Given the description of an element on the screen output the (x, y) to click on. 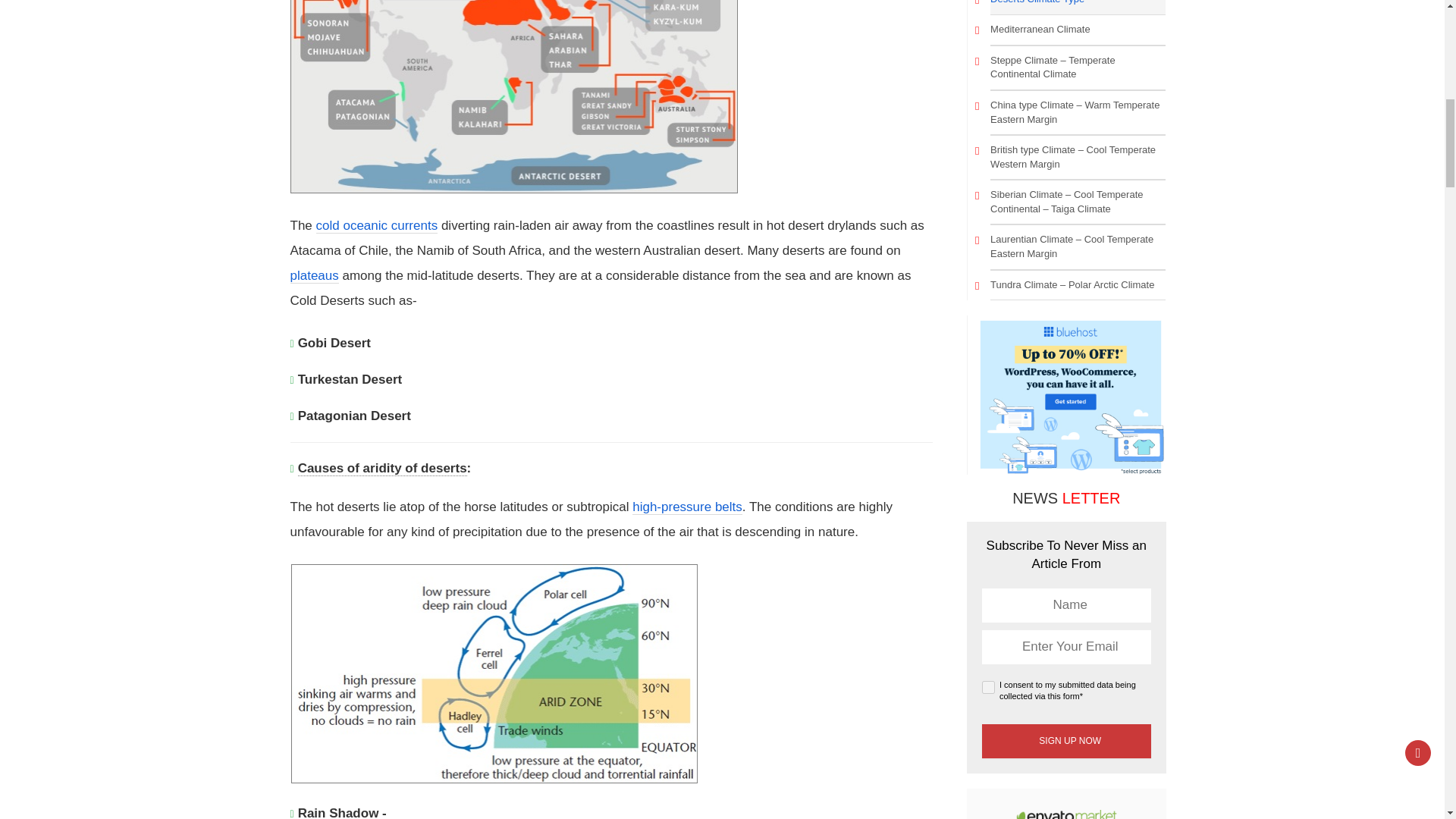
Sign Up Now (1066, 740)
Yes (987, 686)
